Given the description of an element on the screen output the (x, y) to click on. 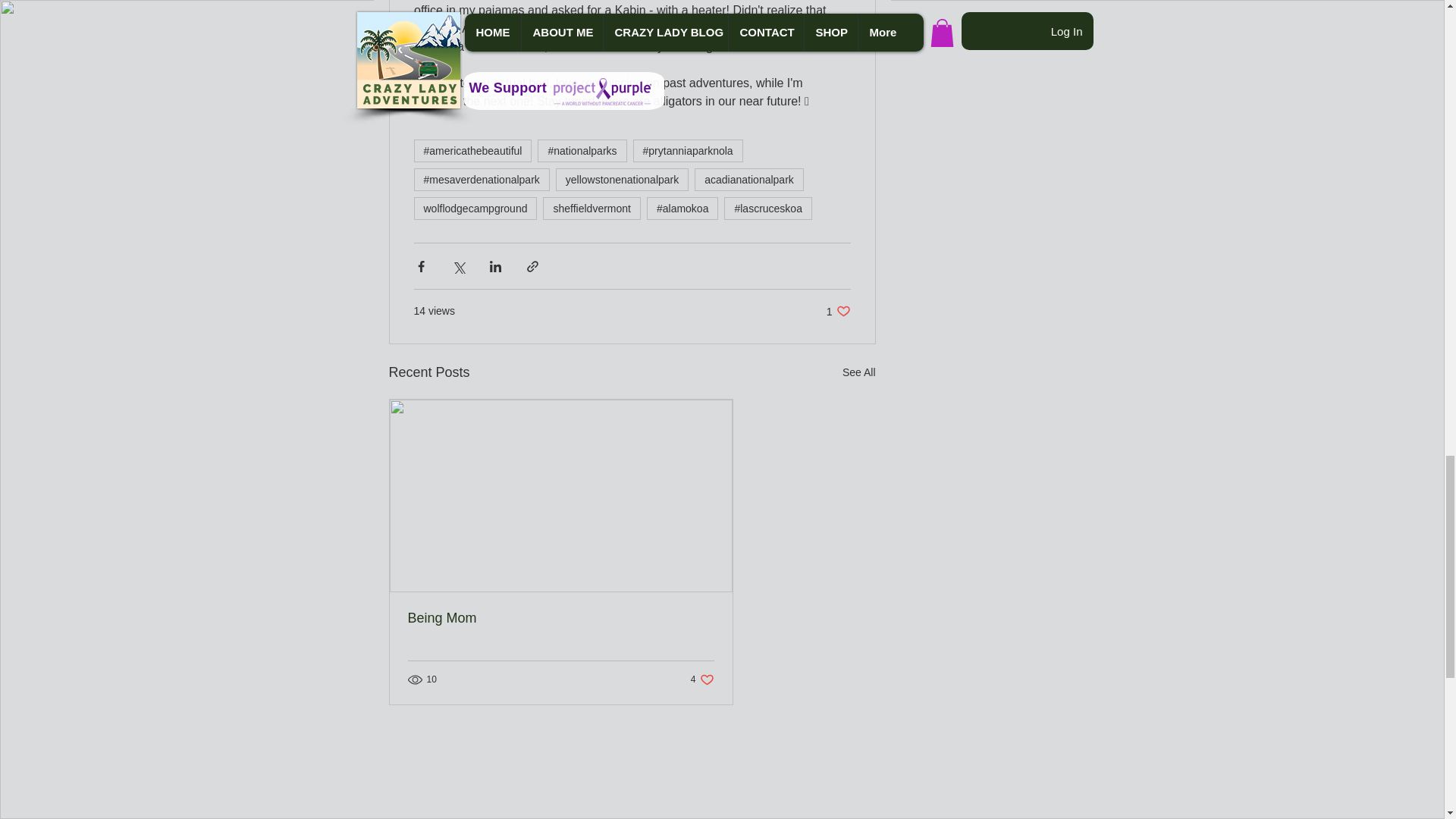
See All (838, 310)
yellowstonenationalpark (859, 372)
sheffieldvermont (622, 179)
Being Mom (591, 208)
acadianationalpark (560, 618)
wolflodgecampground (702, 679)
